Given the description of an element on the screen output the (x, y) to click on. 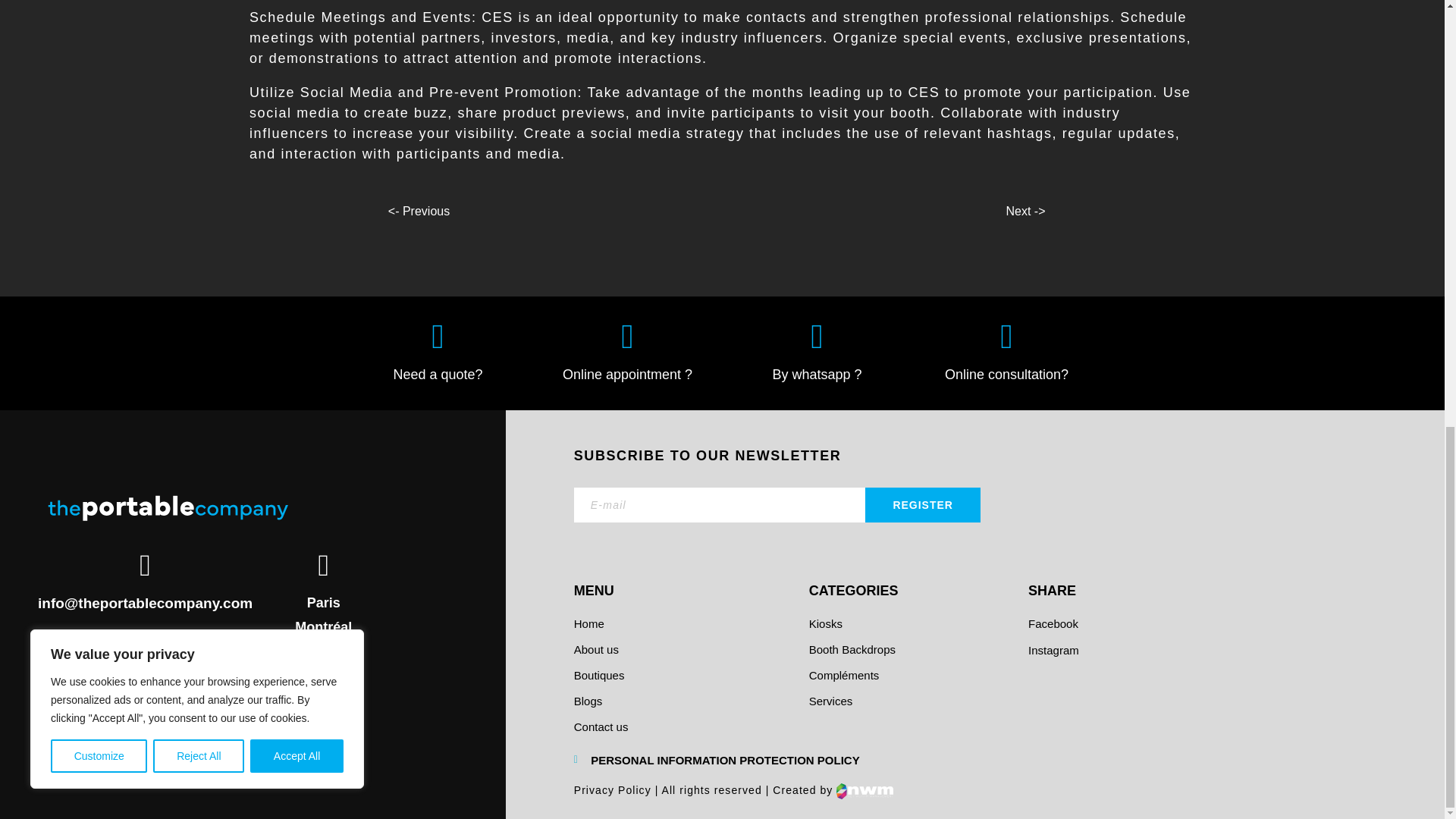
Online appointment ? (627, 374)
Need a quote? (437, 374)
register (921, 504)
